Given the description of an element on the screen output the (x, y) to click on. 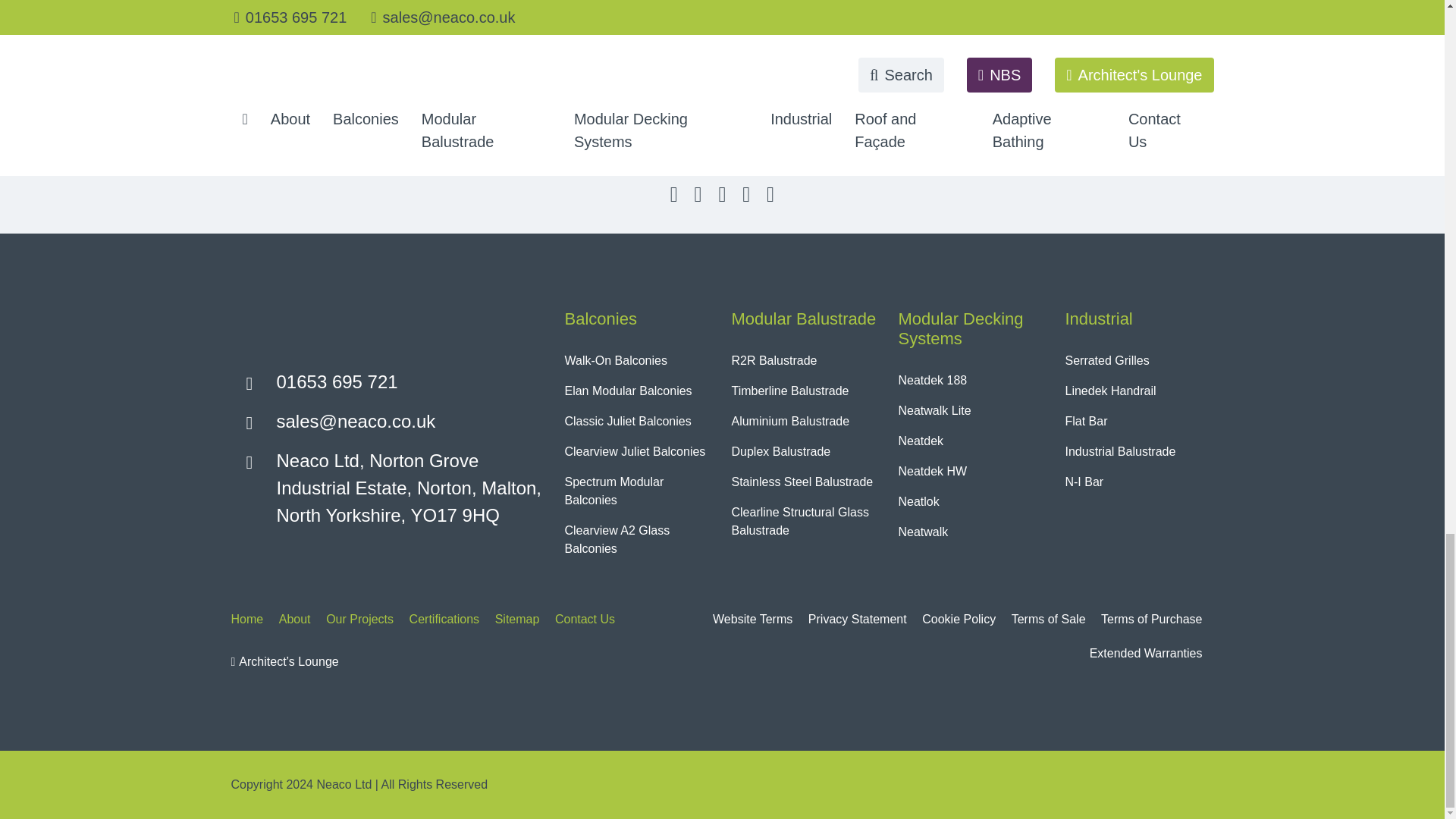
Permanent Link to Neaco celebrates record order book in 2017 (935, 91)
Permanent Link to Neaco celebrates record order book in 2017 (1037, 9)
Permanent Link to Neil celebrates 25 years with neaco (601, 91)
Permanent Link to Neil celebrates 25 years with neaco (702, 9)
Permanent Link to A New First-Aider at Neaco (267, 62)
